Given the description of an element on the screen output the (x, y) to click on. 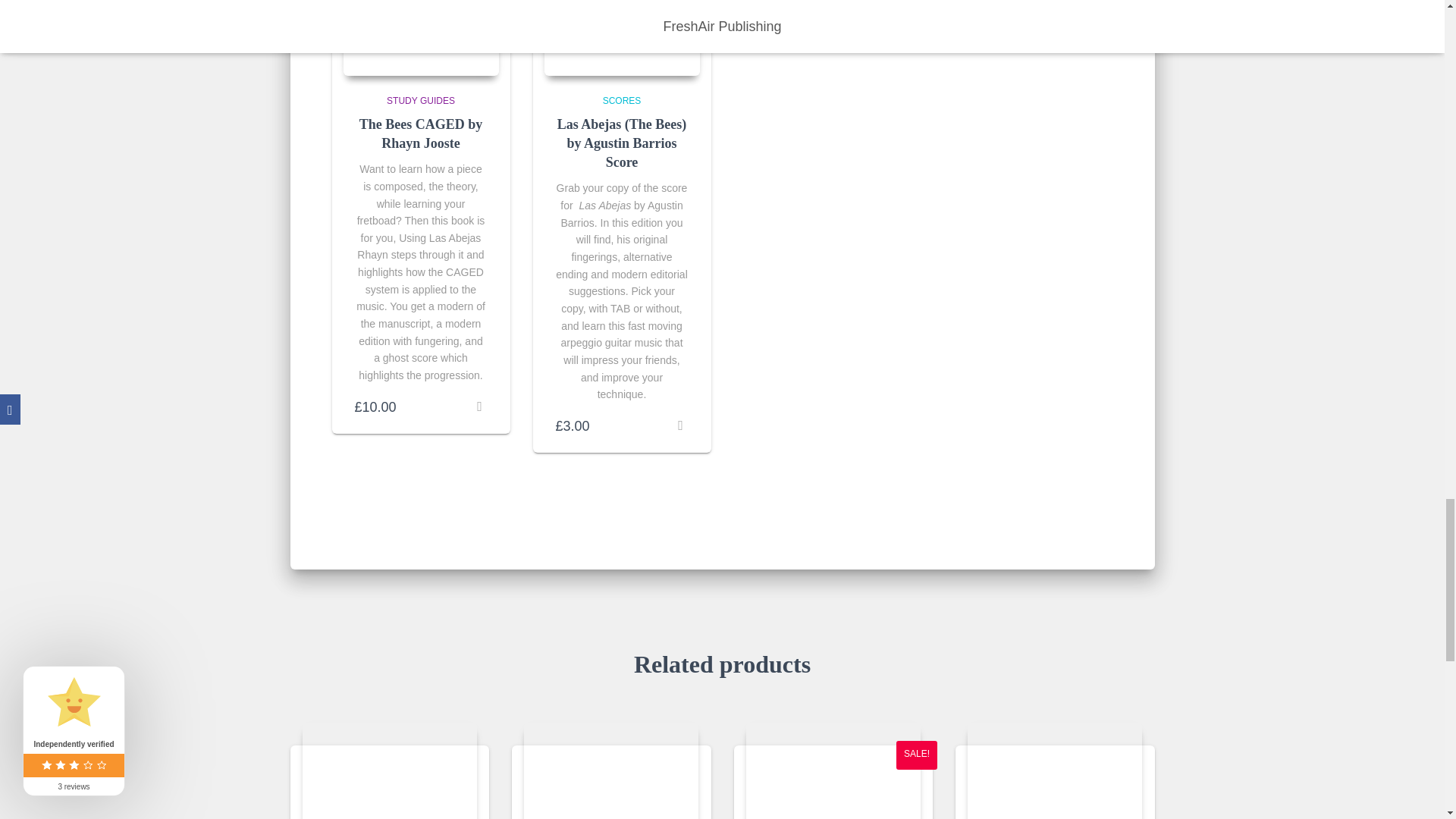
The Bees CAGED by Rhayn Jooste (419, 38)
SCORES (622, 100)
The Bees CAGED by Rhayn Jooste (421, 133)
Add to cart (478, 406)
Add to cart (680, 426)
The Bees CAGED by Rhayn Jooste (421, 133)
STUDY GUIDES (420, 100)
